Given the description of an element on the screen output the (x, y) to click on. 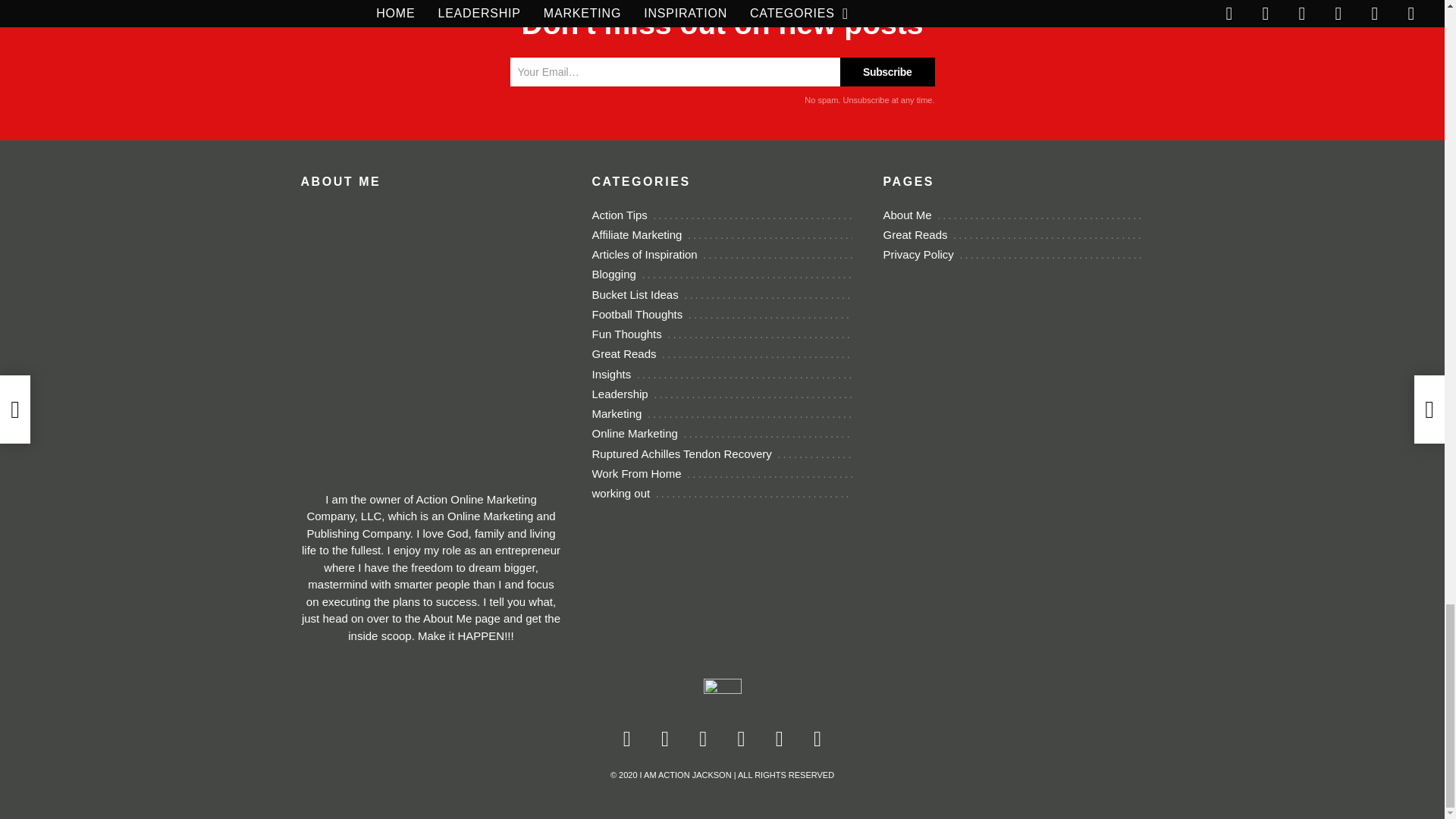
Subscribe (887, 71)
